Given the description of an element on the screen output the (x, y) to click on. 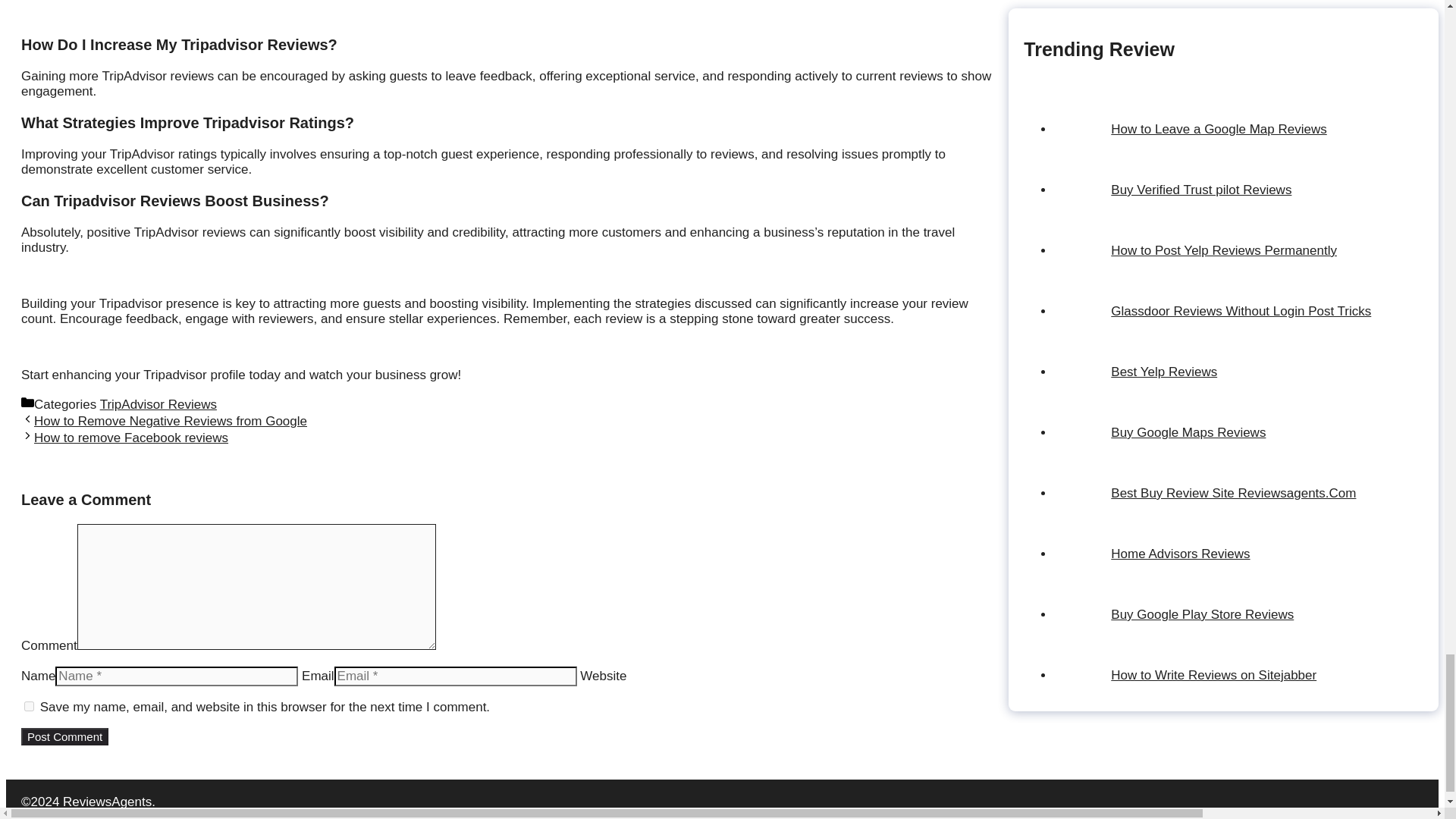
How to remove Facebook reviews (130, 437)
How to Remove Negative Reviews from Google (170, 421)
TripAdvisor Reviews (158, 404)
Post Comment (64, 736)
yes (28, 706)
